Given the description of an element on the screen output the (x, y) to click on. 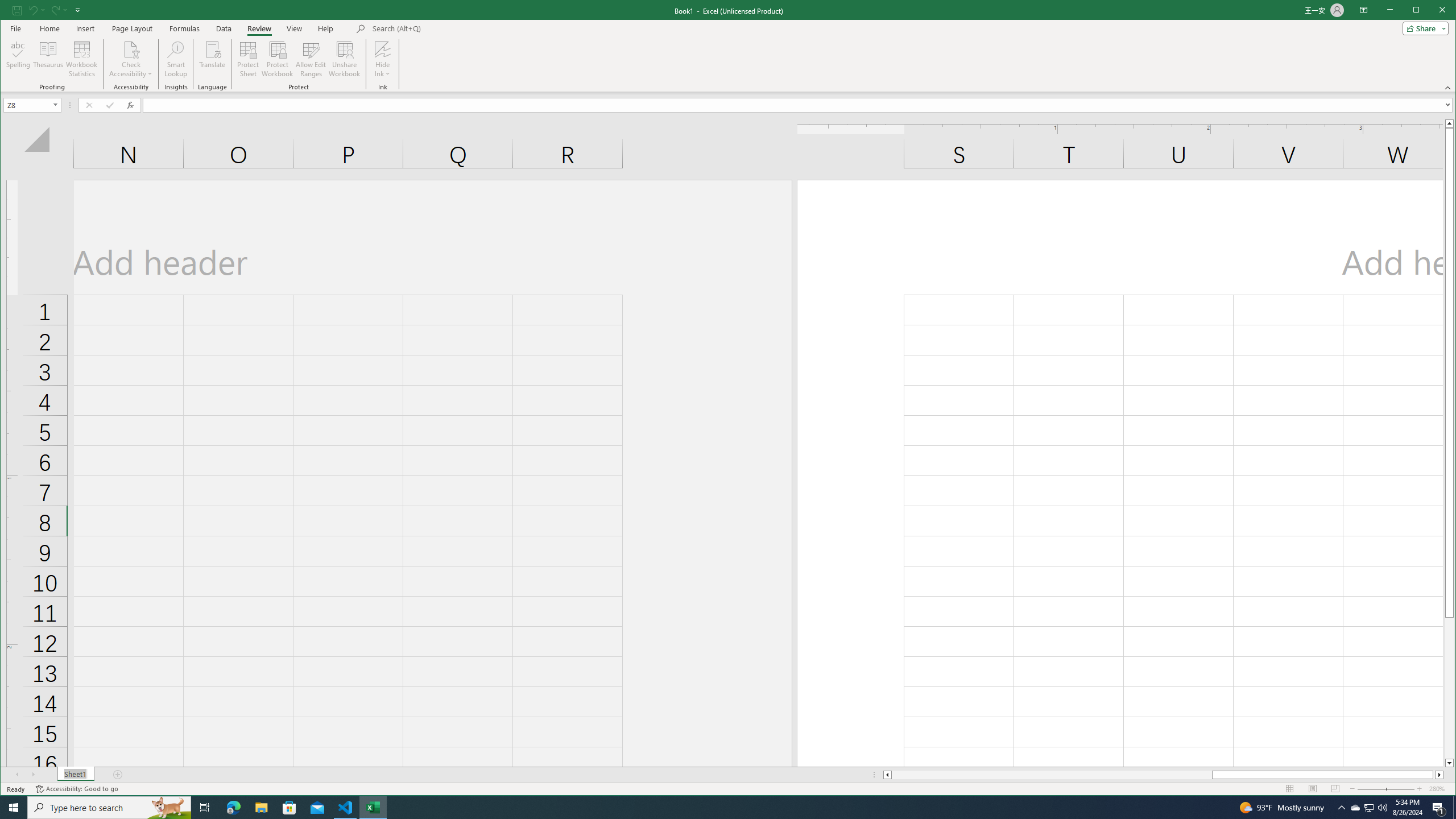
Action Center, 1 new notification (1439, 807)
Visual Studio Code - 1 running window (345, 807)
Show desktop (1454, 807)
